Given the description of an element on the screen output the (x, y) to click on. 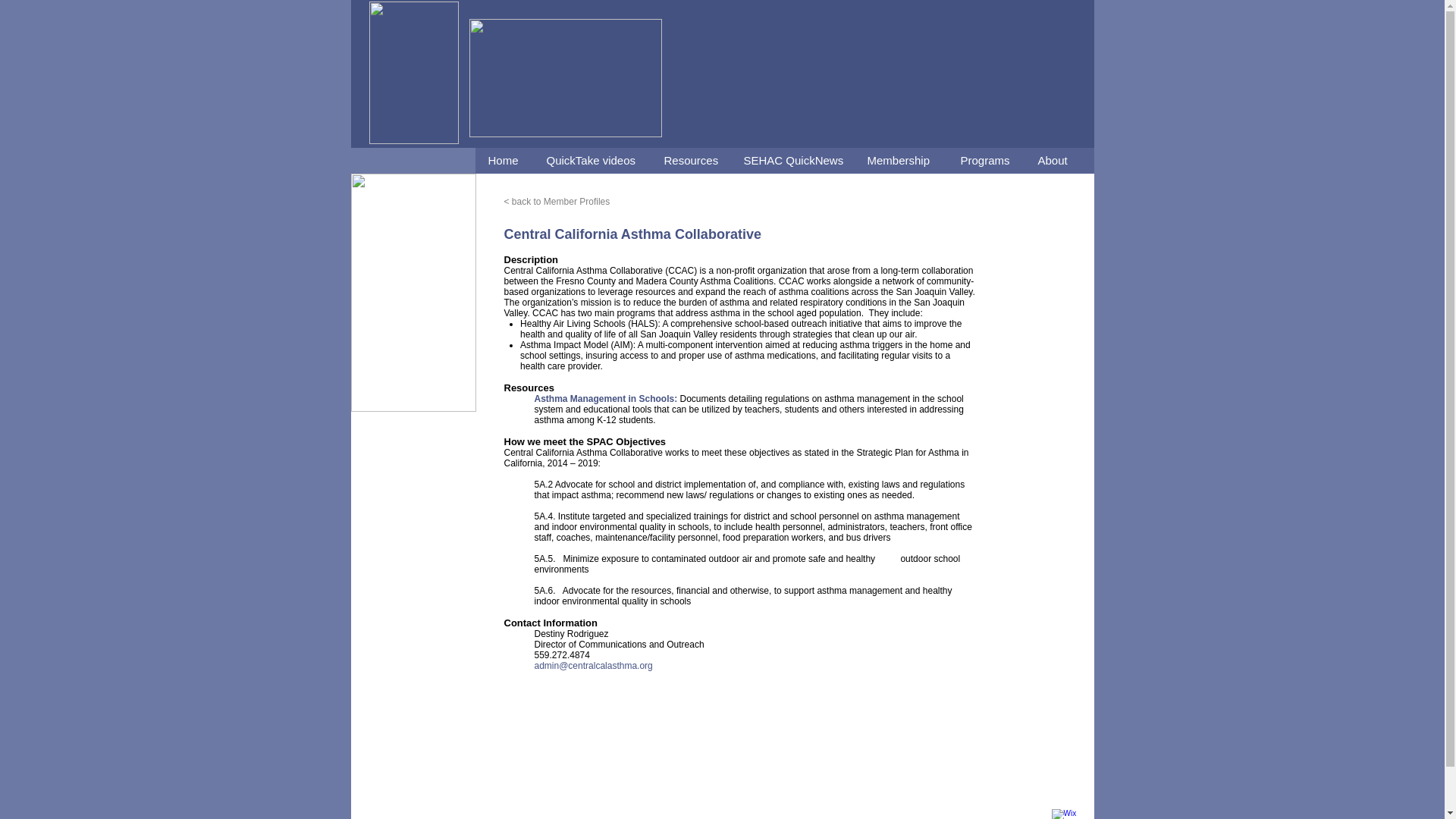
Asthma Management in Schools: (606, 398)
QuickTake videos (590, 160)
SEHAC QuickNews (791, 160)
Resources (690, 160)
Home (503, 160)
Membership (900, 160)
